Given the description of an element on the screen output the (x, y) to click on. 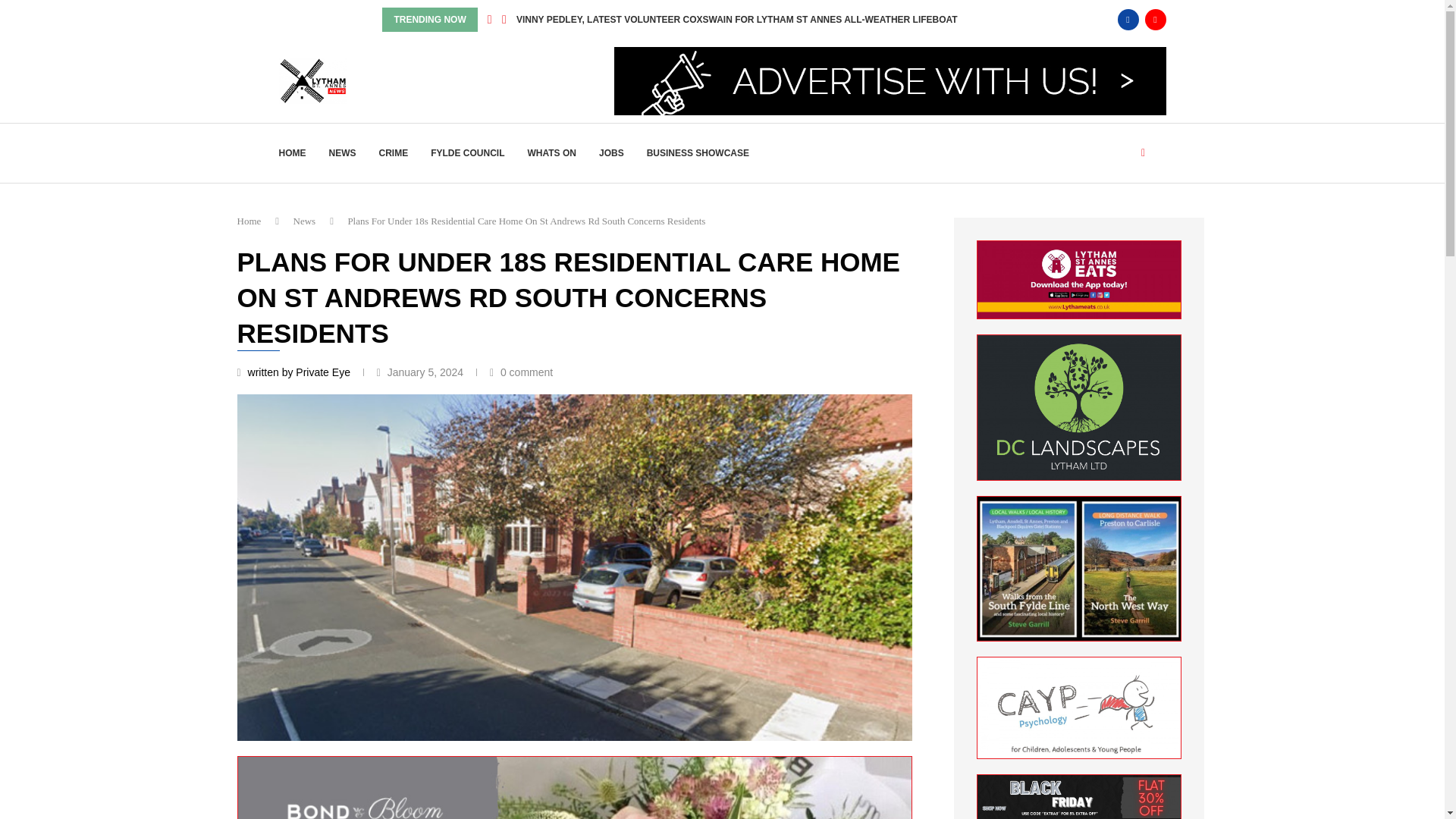
FYLDE COUNCIL (466, 153)
BUSINESS SHOWCASE (697, 153)
WHATS ON (551, 153)
